Given the description of an element on the screen output the (x, y) to click on. 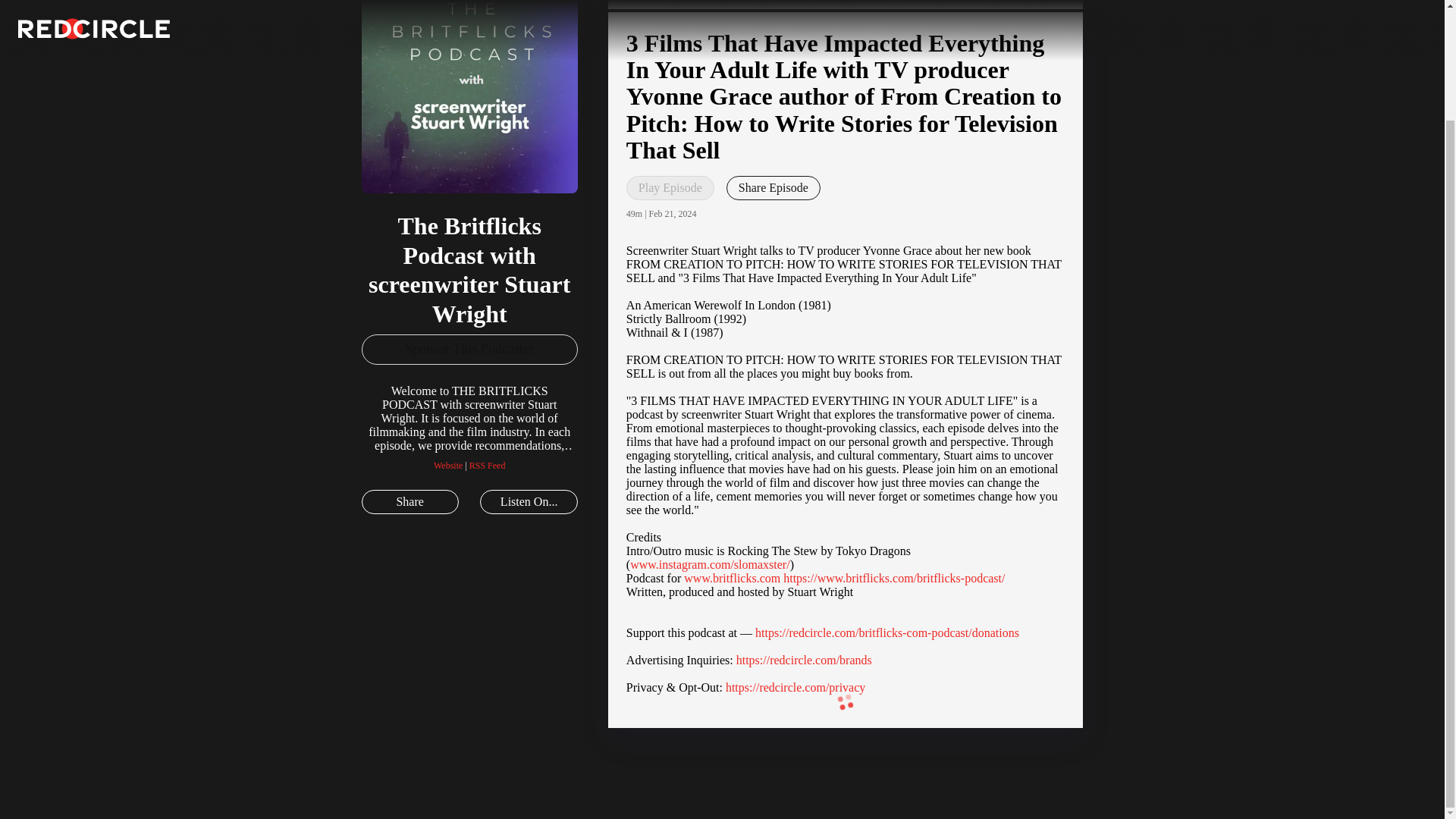
Listen On... (528, 467)
Share (409, 467)
www.britflicks.com (732, 577)
RSS Feed (486, 430)
The Britflicks Podcast with screenwriter Stuart Wright (518, 797)
Play Episode (670, 187)
Share Episode (773, 187)
Sponsor This Podcaster (468, 314)
Website (448, 430)
